Given the description of an element on the screen output the (x, y) to click on. 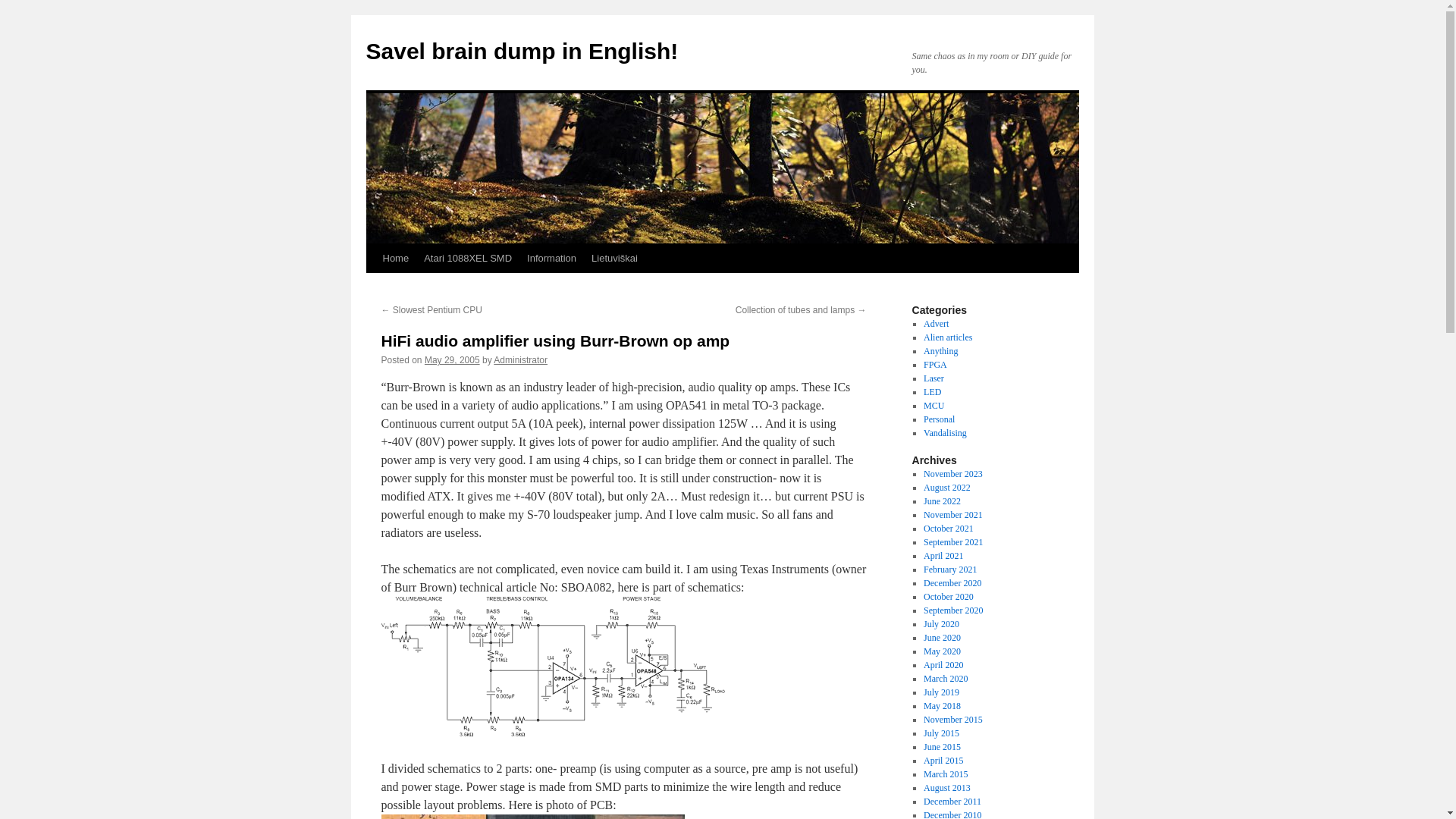
Anything (940, 350)
November 2023 (952, 473)
Atari 1088XEL SMD (467, 258)
August 2022 (947, 487)
Savel brain dump in English! (521, 50)
Information (551, 258)
Vandalising (944, 432)
FPGA (935, 364)
View all posts by Administrator (520, 359)
LED (931, 391)
June 2022 (941, 501)
Alien articles (947, 337)
Home (395, 258)
9:16 pm (452, 359)
Laser (933, 378)
